Given the description of an element on the screen output the (x, y) to click on. 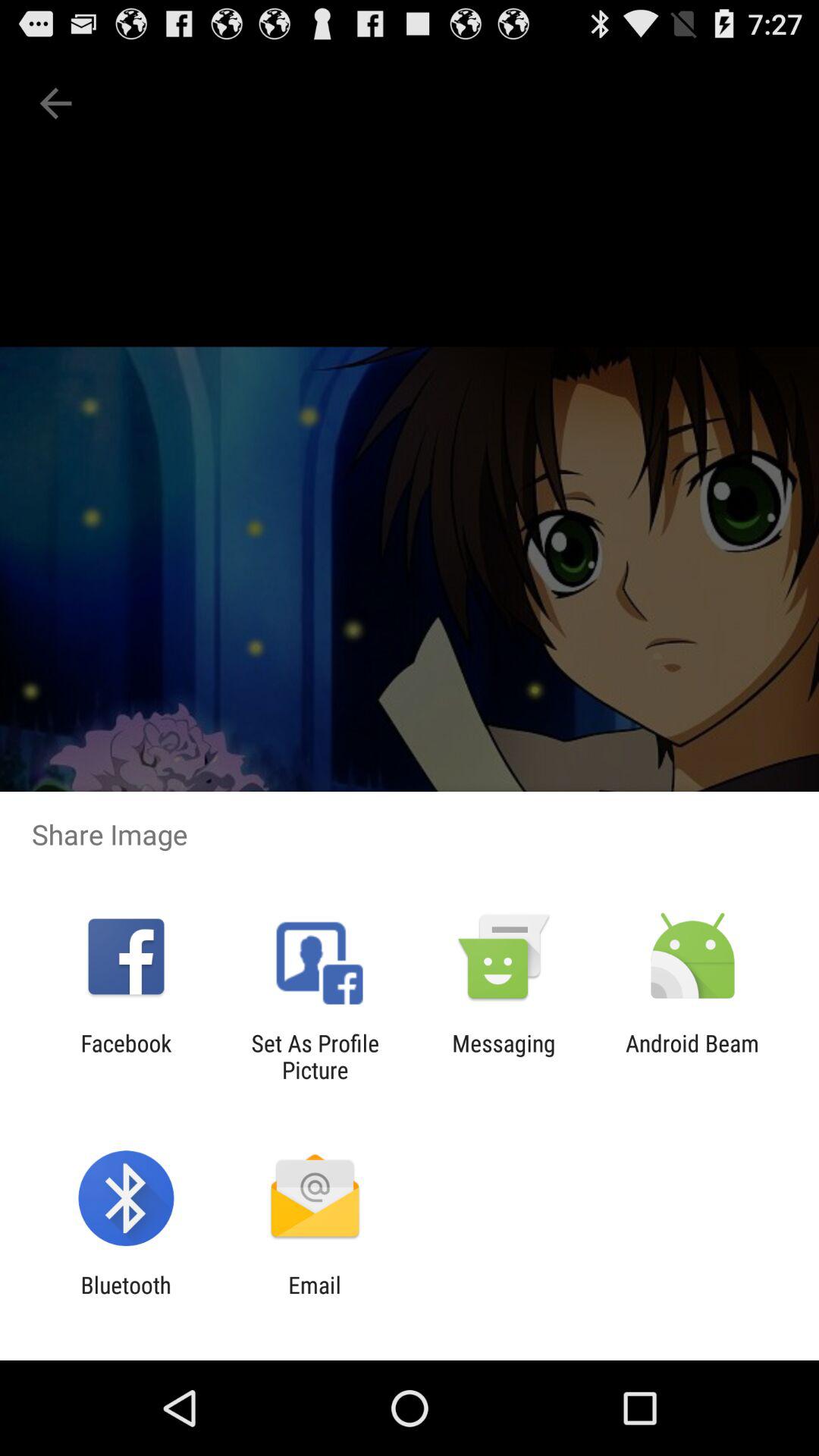
launch app to the left of set as profile item (125, 1056)
